Given the description of an element on the screen output the (x, y) to click on. 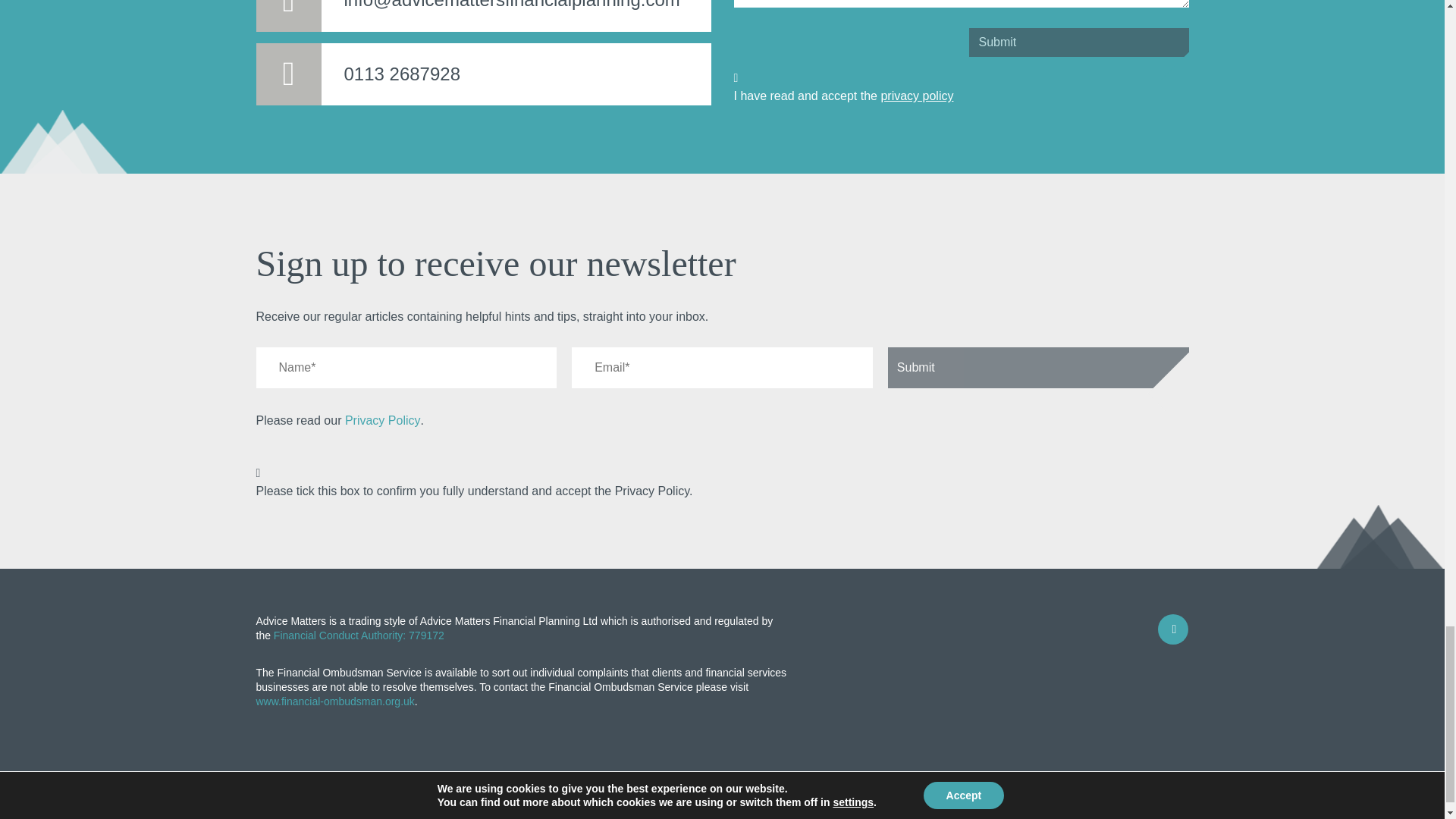
Submit (1038, 367)
Submit (1079, 41)
